Given the description of an element on the screen output the (x, y) to click on. 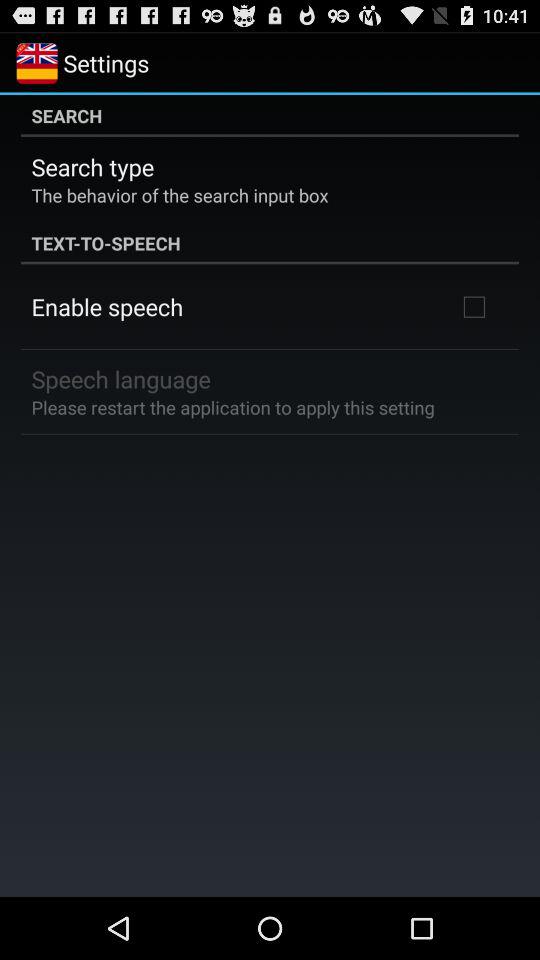
flip to text-to-speech app (270, 243)
